Given the description of an element on the screen output the (x, y) to click on. 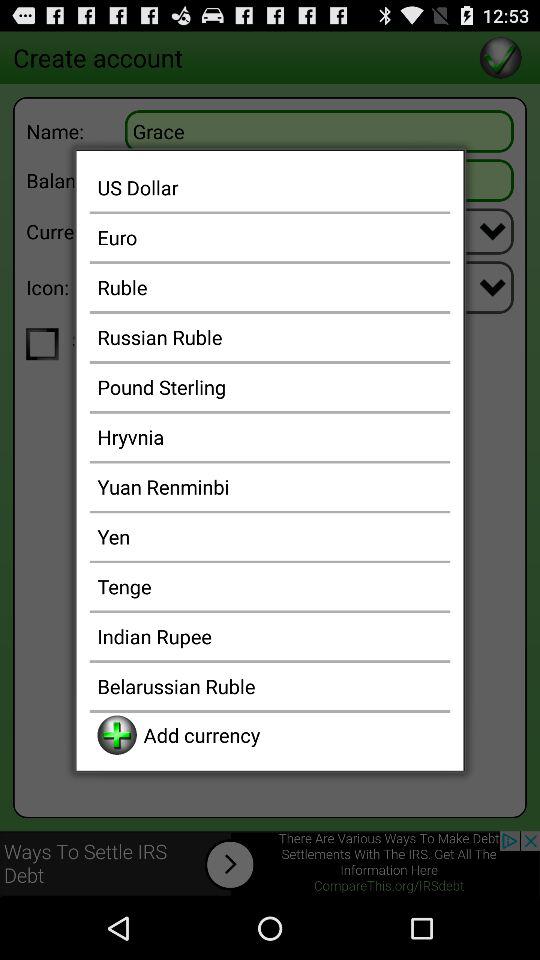
click yen (269, 536)
